Given the description of an element on the screen output the (x, y) to click on. 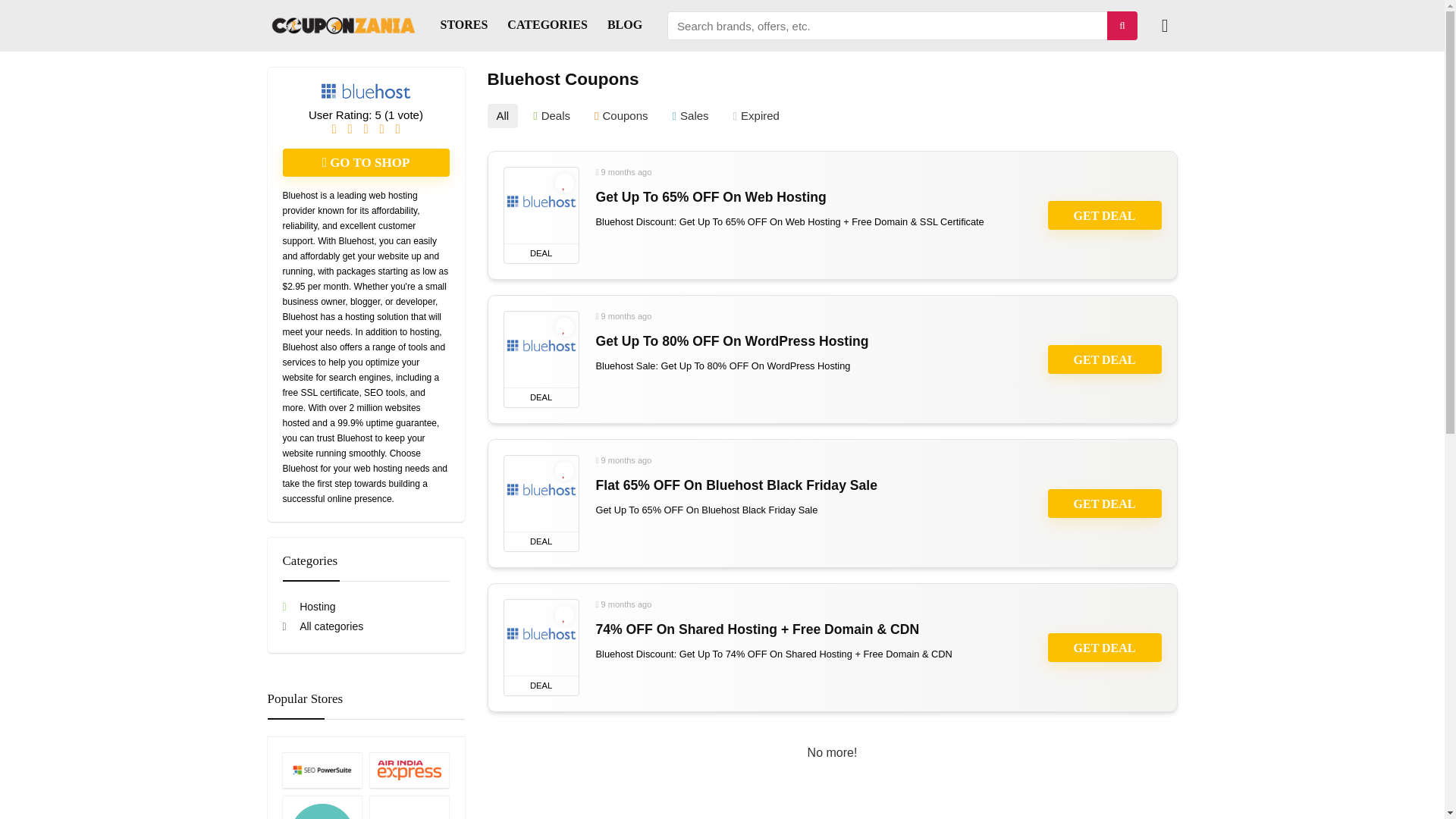
GET DEAL (1104, 502)
GET DEAL (1104, 358)
View all post filed under Yoga Bar (321, 806)
Hosting (308, 606)
GET DEAL (1104, 647)
GET DEAL (1104, 215)
BLOG (624, 25)
View all post filed under HSBC (408, 806)
STORES (463, 25)
View all post filed under Air India Express (408, 769)
All categories (322, 626)
CATEGORIES (546, 25)
GO TO SHOP (365, 162)
View all post filed under SEO PowerSuite (321, 769)
